Given the description of an element on the screen output the (x, y) to click on. 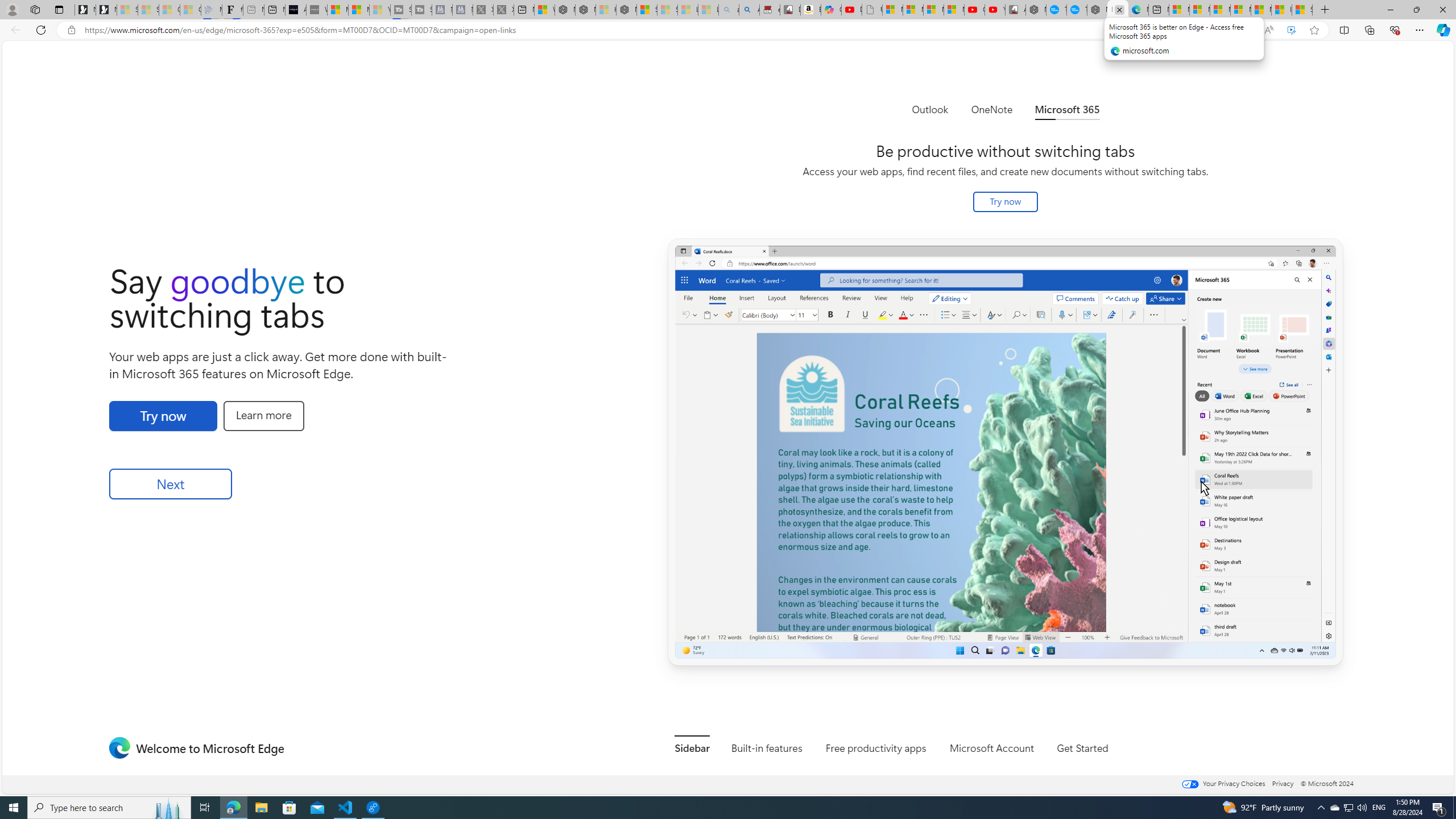
New Tab (1325, 9)
New tab (1158, 9)
Collections (1369, 29)
Tab actions menu (58, 9)
App bar (728, 29)
View site information (70, 29)
Gloom - YouTube (974, 9)
Browser essentials (1394, 29)
All Cubot phones (1015, 9)
Copilot (830, 9)
Refresh (40, 29)
Microsoft Start (1261, 9)
